Given the description of an element on the screen output the (x, y) to click on. 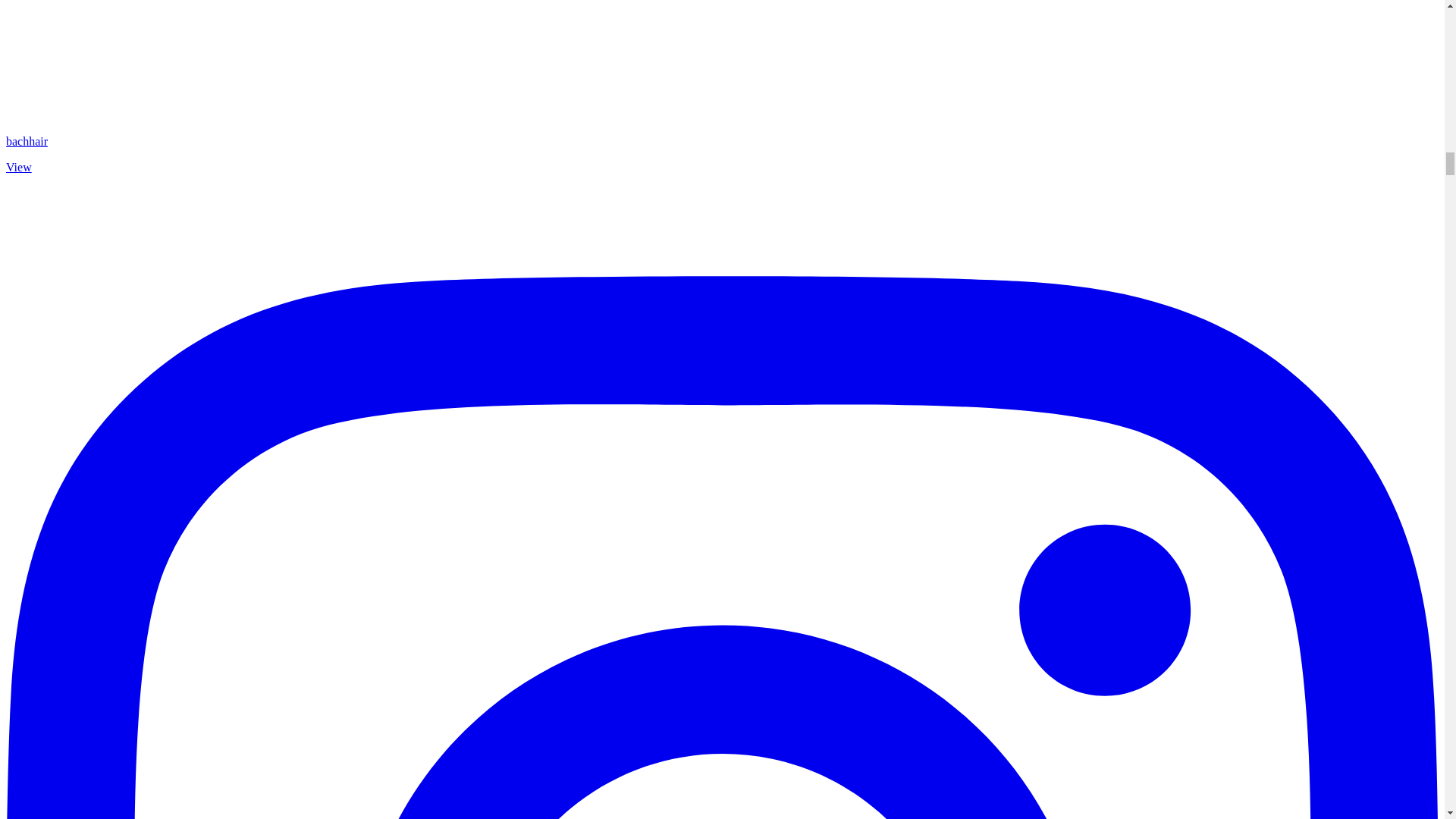
bachhair (26, 141)
